Given the description of an element on the screen output the (x, y) to click on. 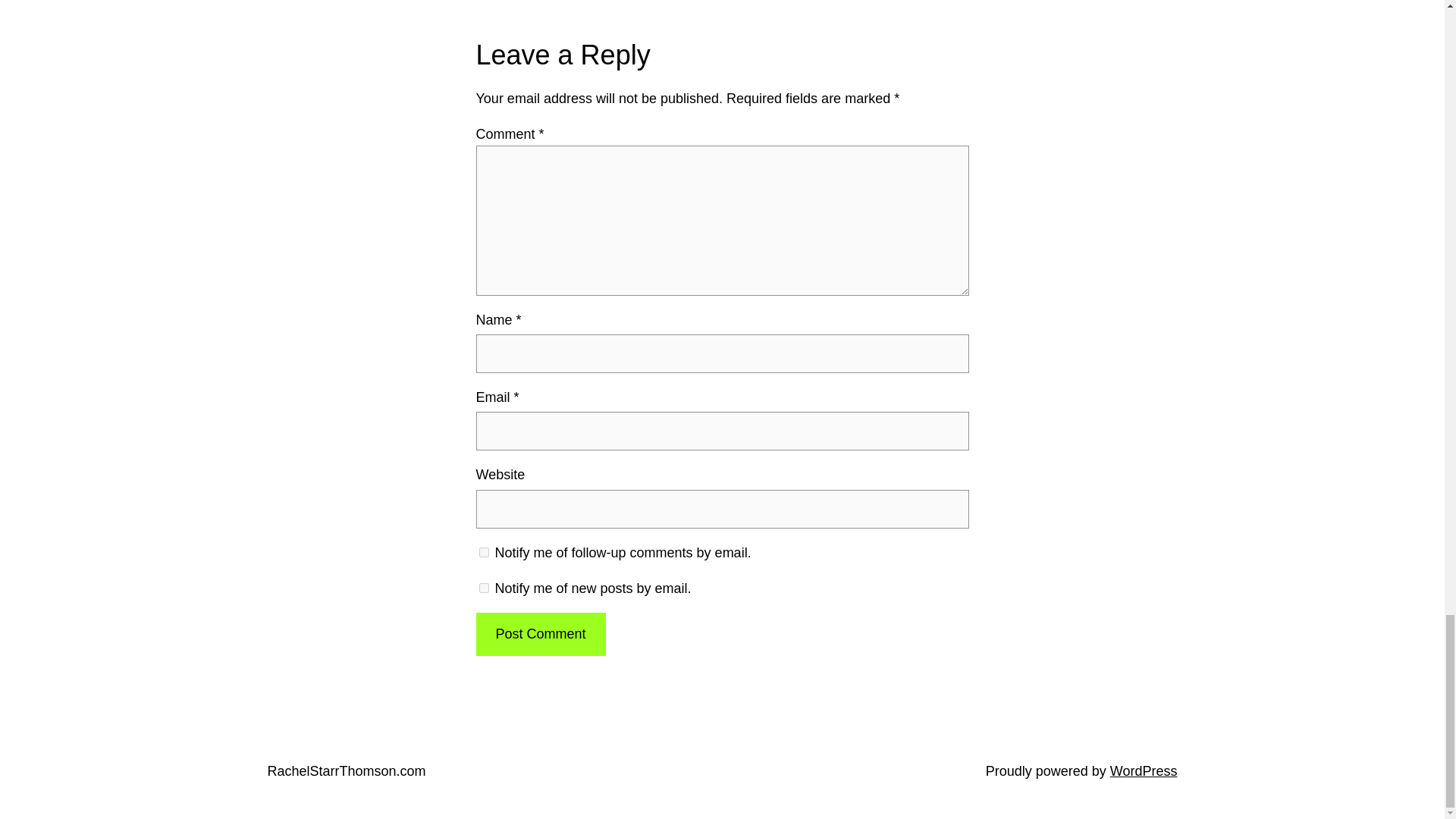
Post Comment (540, 634)
subscribe (484, 587)
subscribe (484, 552)
